Given the description of an element on the screen output the (x, y) to click on. 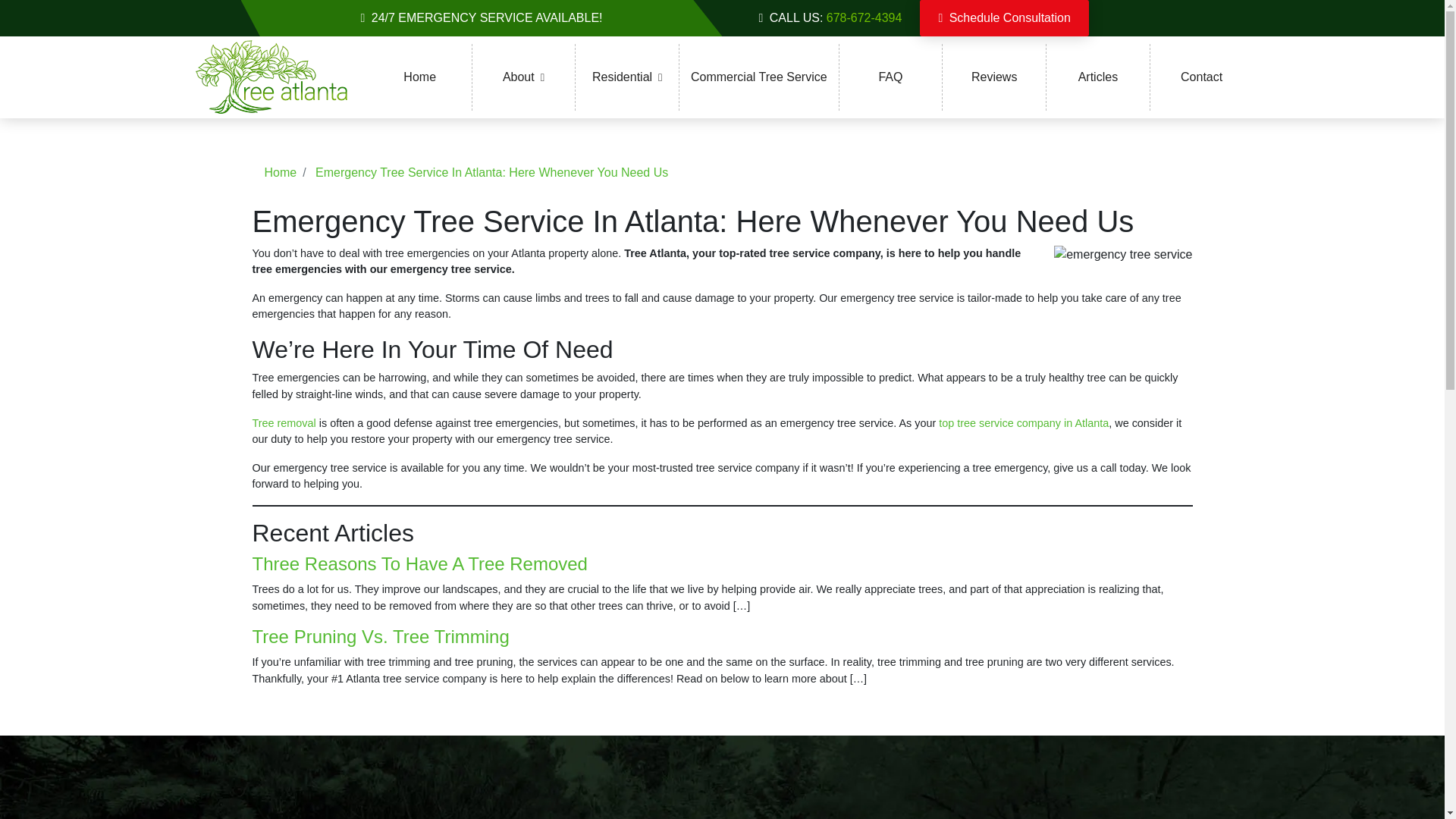
678-672-4394 (864, 17)
Residential (626, 77)
FAQ (890, 77)
Home (420, 77)
Reviews (993, 77)
Schedule Consultation (1003, 18)
Articles (1098, 77)
Commercial Tree Service (758, 77)
About (523, 77)
